Given the description of an element on the screen output the (x, y) to click on. 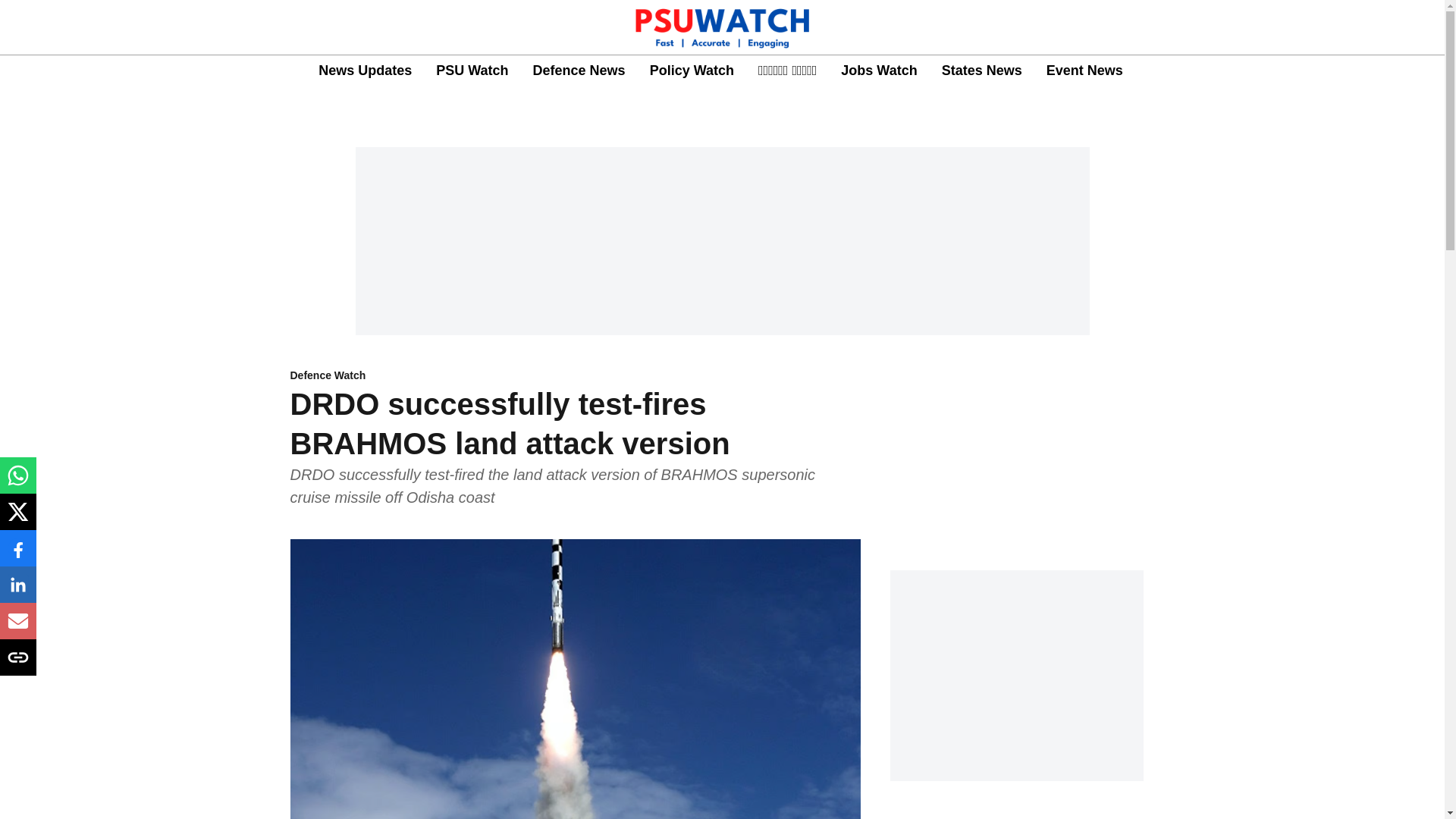
Event News (1084, 70)
Defence Watch (574, 376)
States News (982, 70)
Policy Watch (691, 70)
News Updates (365, 70)
Defence News (579, 70)
PSU Watch (471, 70)
Jobs Watch (879, 70)
